Given the description of an element on the screen output the (x, y) to click on. 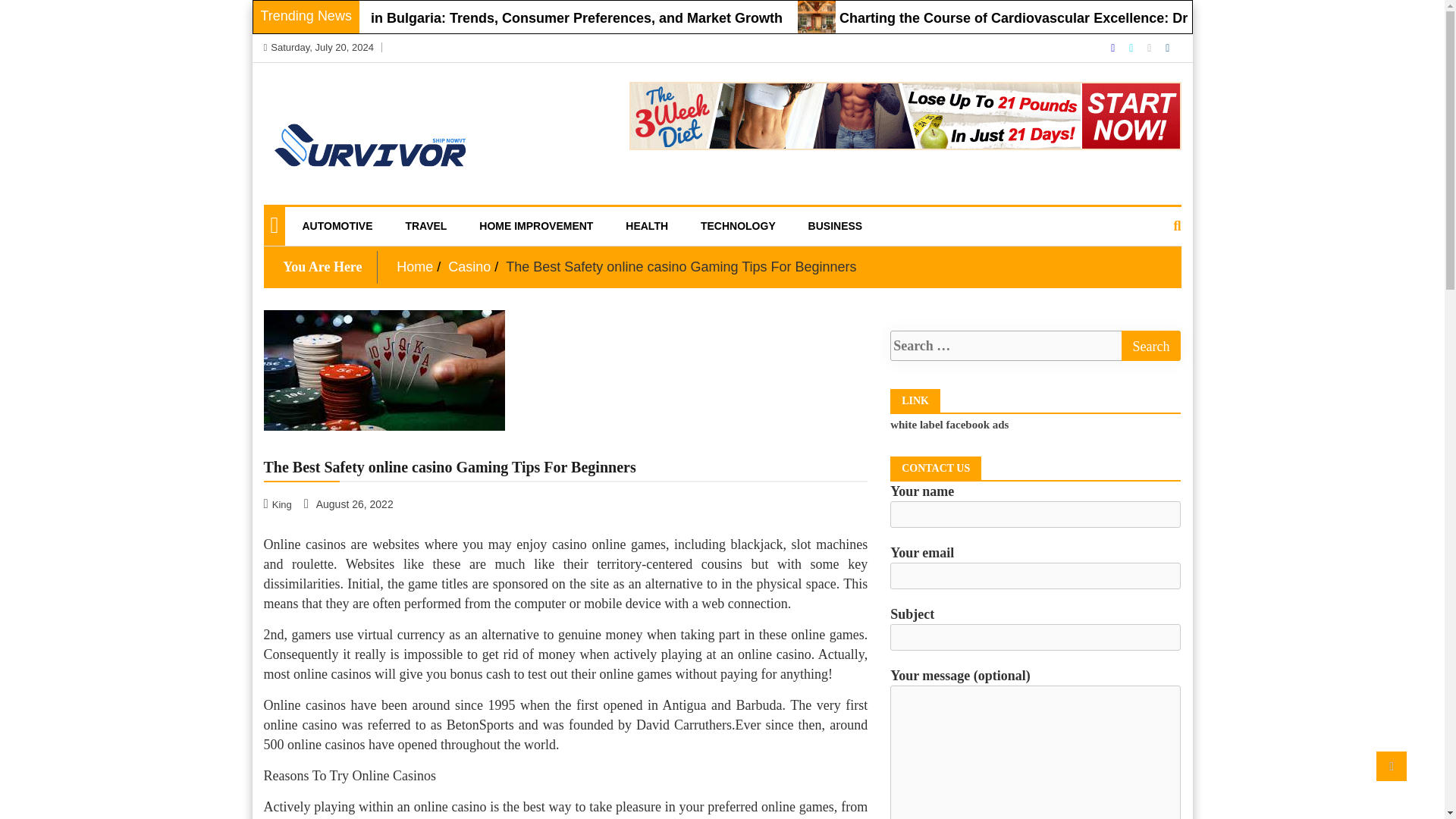
HEALTH (646, 225)
August 26, 2022 (349, 503)
AUTOMOTIVE (336, 225)
white label facebook ads (949, 424)
King (279, 503)
TRAVEL (425, 225)
Search (1150, 345)
BUSINESS (835, 225)
Casino (469, 266)
Survivorship Now VT (369, 224)
Search (1150, 345)
HOME IMPROVEMENT (535, 225)
TECHNOLOGY (737, 225)
Search (1150, 345)
